Given the description of an element on the screen output the (x, y) to click on. 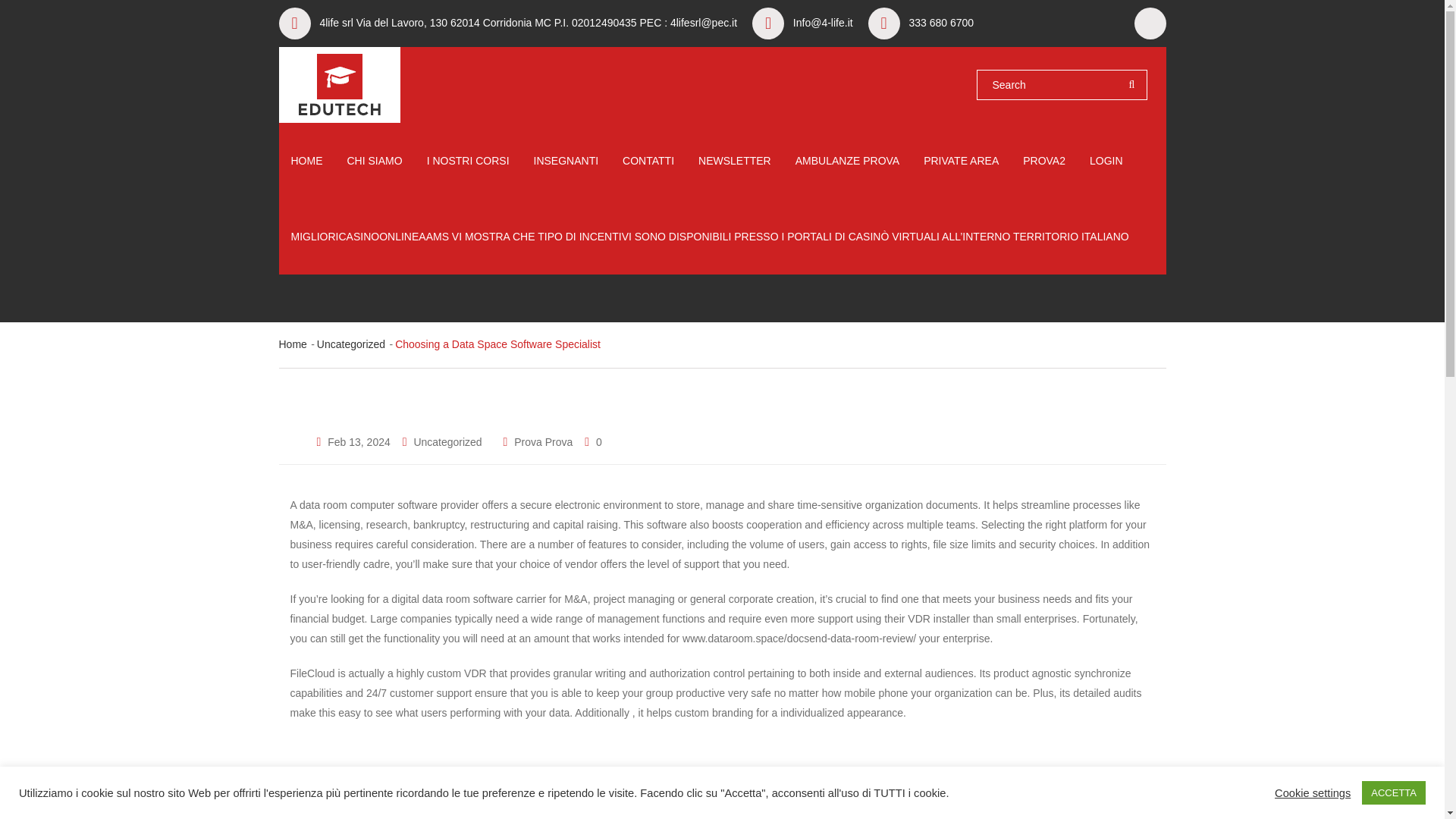
Uncategorized (447, 442)
Newsletter (734, 160)
Logo (339, 84)
Home (293, 344)
Private area (960, 160)
I nostri corsi (467, 160)
AMBULANZE PROVA (846, 160)
AMBULANZE PROVA (846, 160)
PRIVATE AREA (960, 160)
333 680 6700 (941, 23)
Uncategorized (351, 344)
I NOSTRI CORSI (467, 160)
NEWSLETTER (734, 160)
